Given the description of an element on the screen output the (x, y) to click on. 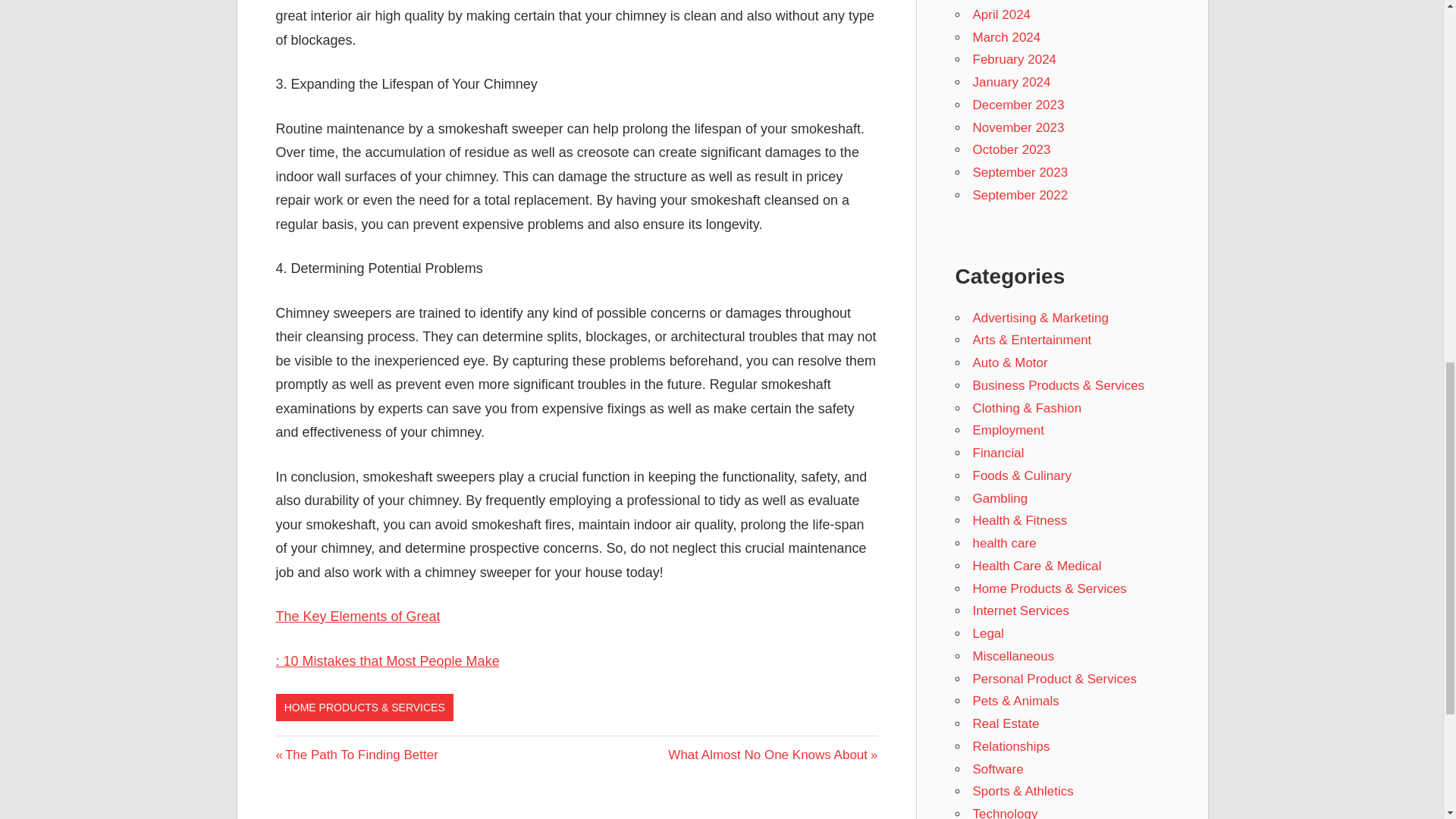
December 2023 (357, 754)
September 2022 (1018, 104)
February 2024 (1019, 195)
health care (1014, 59)
January 2024 (1003, 543)
November 2023 (1010, 82)
The Key Elements of Great (772, 754)
: 10 Mistakes that Most People Make (1018, 127)
October 2023 (358, 616)
March 2024 (387, 661)
April 2024 (1010, 149)
Employment (1006, 37)
Gambling (1001, 14)
